Given the description of an element on the screen output the (x, y) to click on. 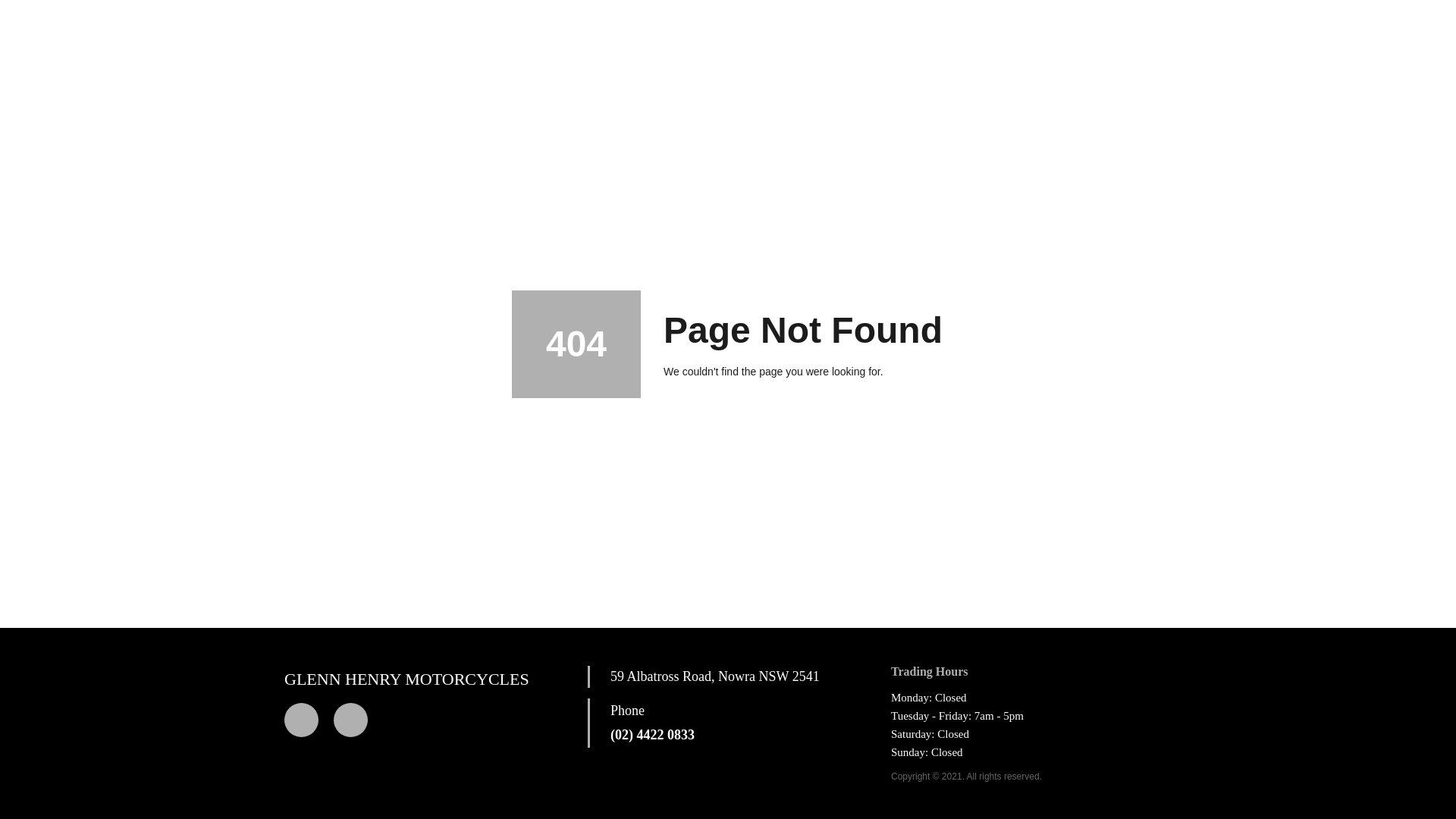
(02) 4422 0833 Element type: text (652, 735)
